Given the description of an element on the screen output the (x, y) to click on. 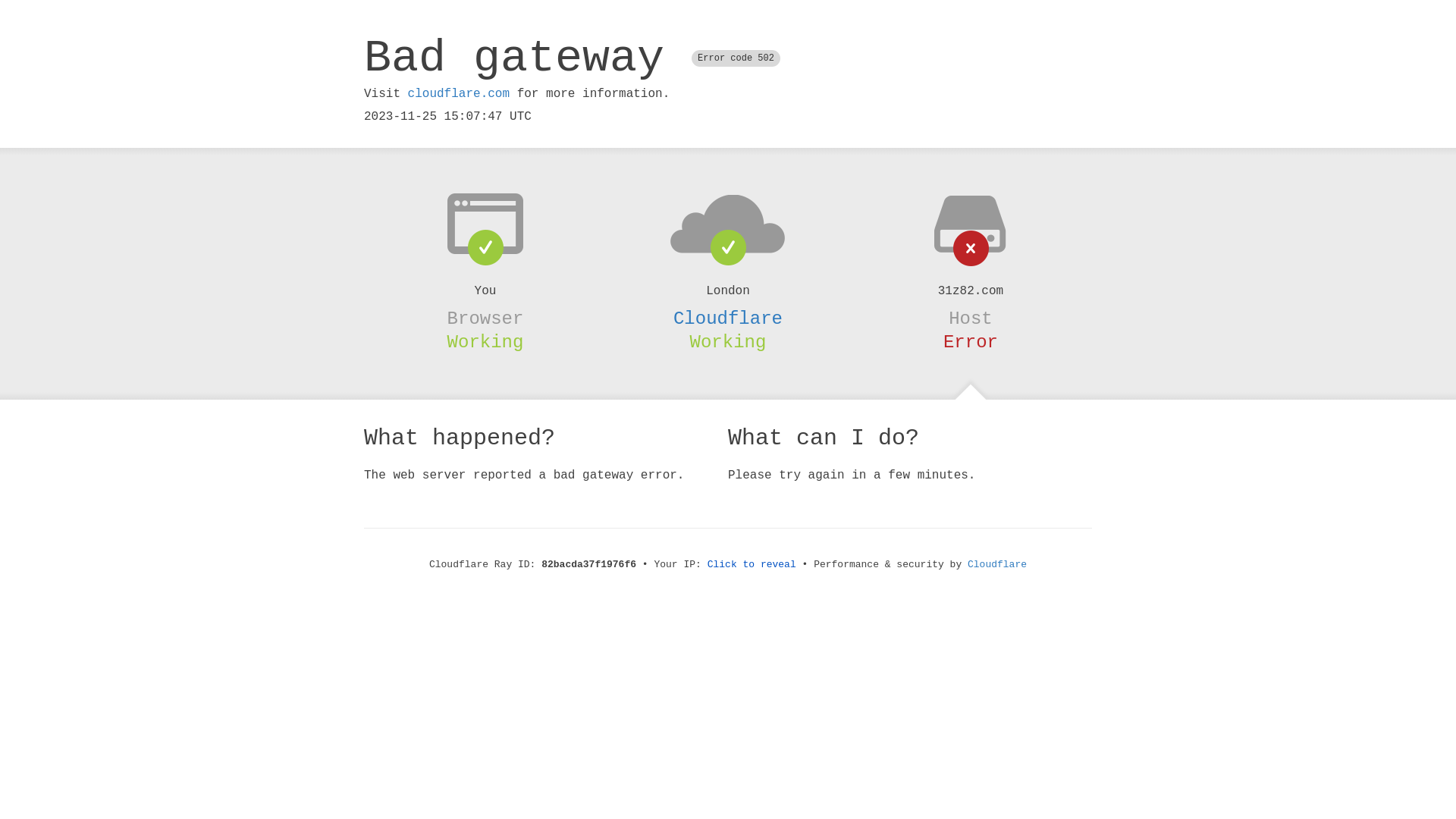
cloudflare.com Element type: text (458, 93)
Cloudflare Element type: text (996, 564)
Click to reveal Element type: text (751, 564)
Cloudflare Element type: text (727, 318)
